Given the description of an element on the screen output the (x, y) to click on. 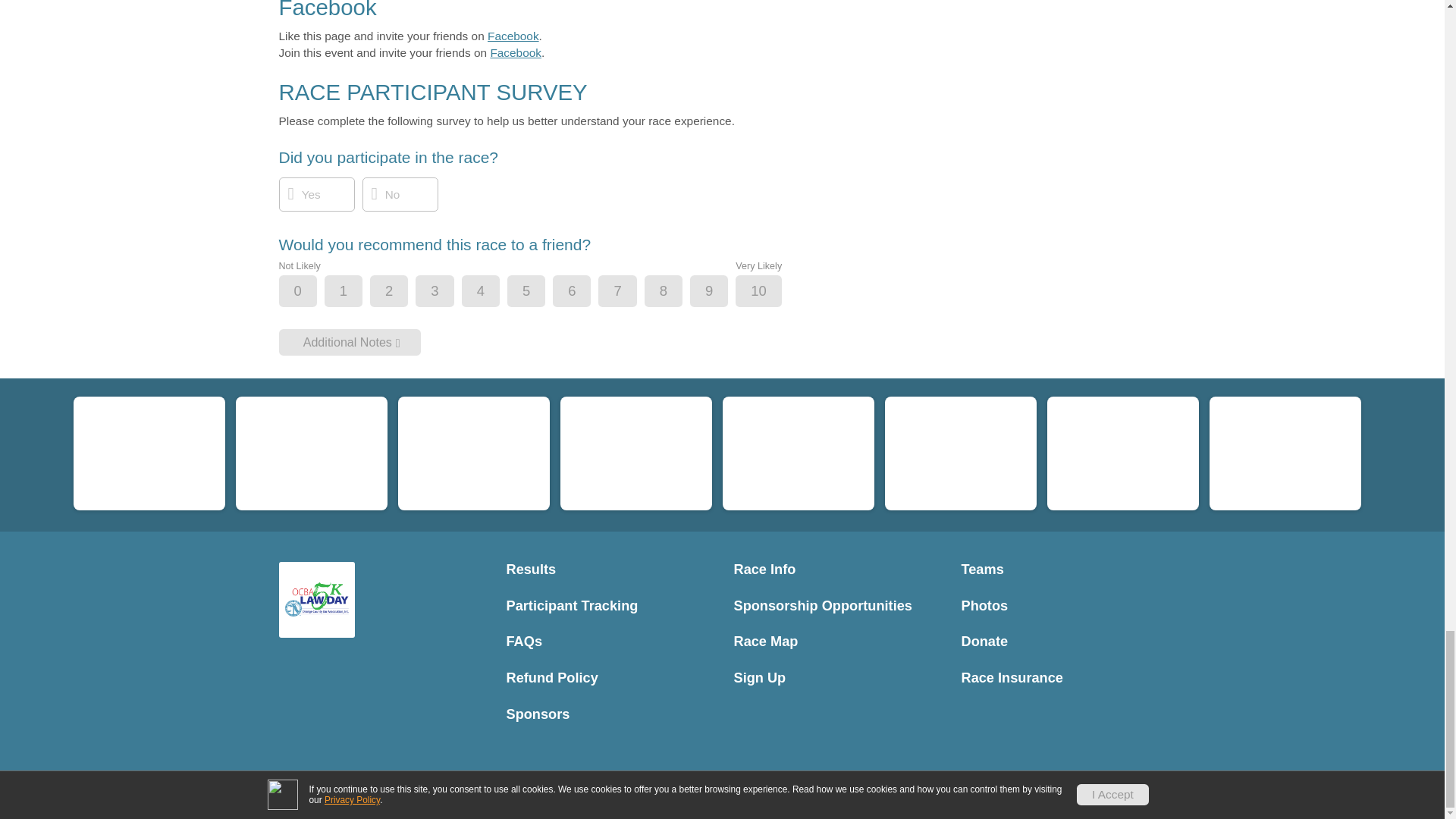
1 (355, 291)
10 (770, 291)
6 (584, 291)
7 (629, 291)
0 (310, 291)
5 (539, 291)
8 (675, 291)
9 (721, 291)
4 (493, 291)
2 (401, 291)
